Given the description of an element on the screen output the (x, y) to click on. 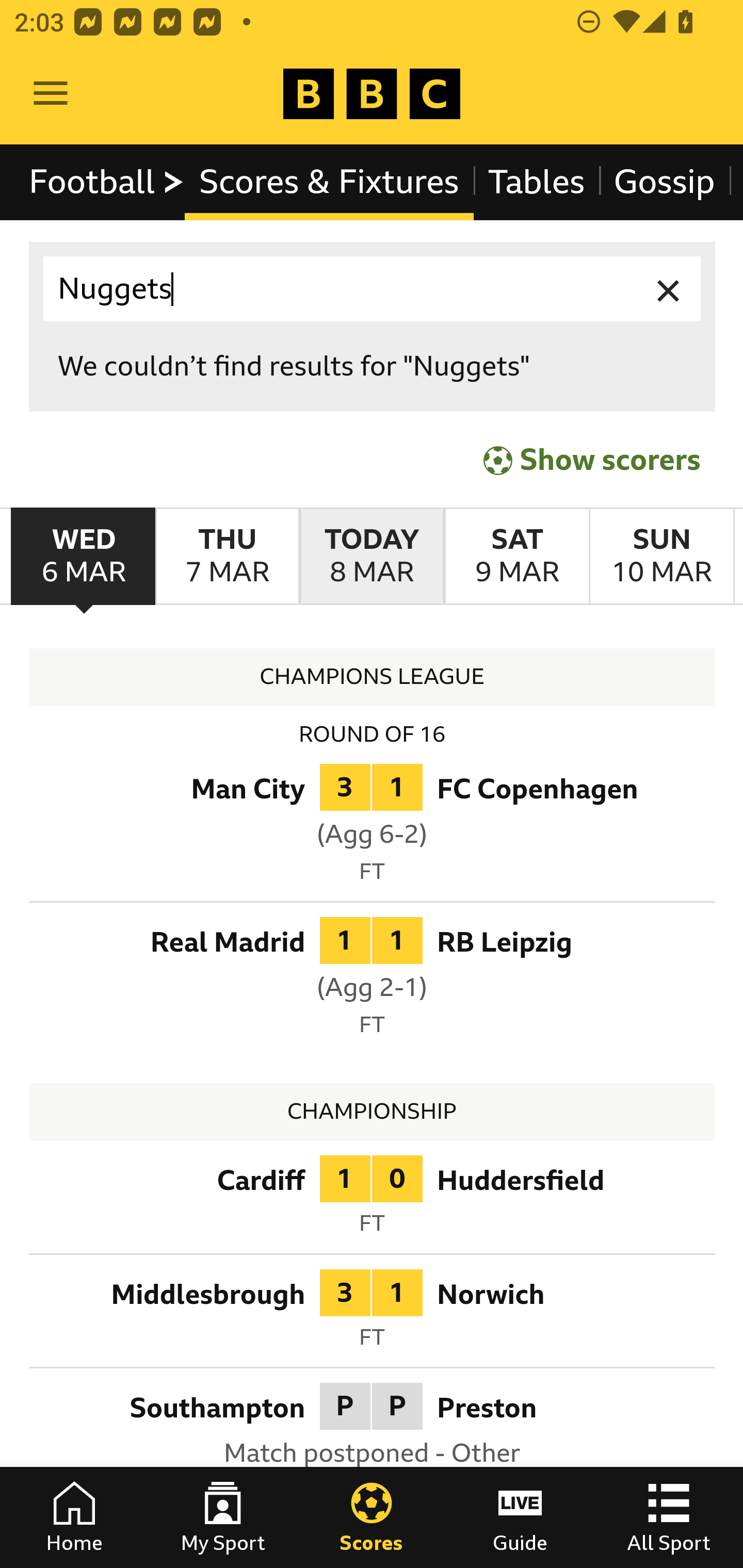
Open Menu (50, 93)
Football  (106, 181)
Scores & Fixtures (329, 181)
Tables (536, 181)
Gossip (664, 181)
Nuggets (372, 289)
Clear input (669, 289)
Show scorers (591, 459)
ThursdayMarch 7th Thursday March 7th (227, 557)
TodayMarch 8th Today March 8th (371, 557)
SaturdayMarch 9th Saturday March 9th (516, 557)
SundayMarch 10th Sunday March 10th (661, 557)
68420958 Middlesbrough 3 Norwich City 1 Full Time (372, 1313)
Home (74, 1517)
My Sport (222, 1517)
Guide (519, 1517)
All Sport (668, 1517)
